Given the description of an element on the screen output the (x, y) to click on. 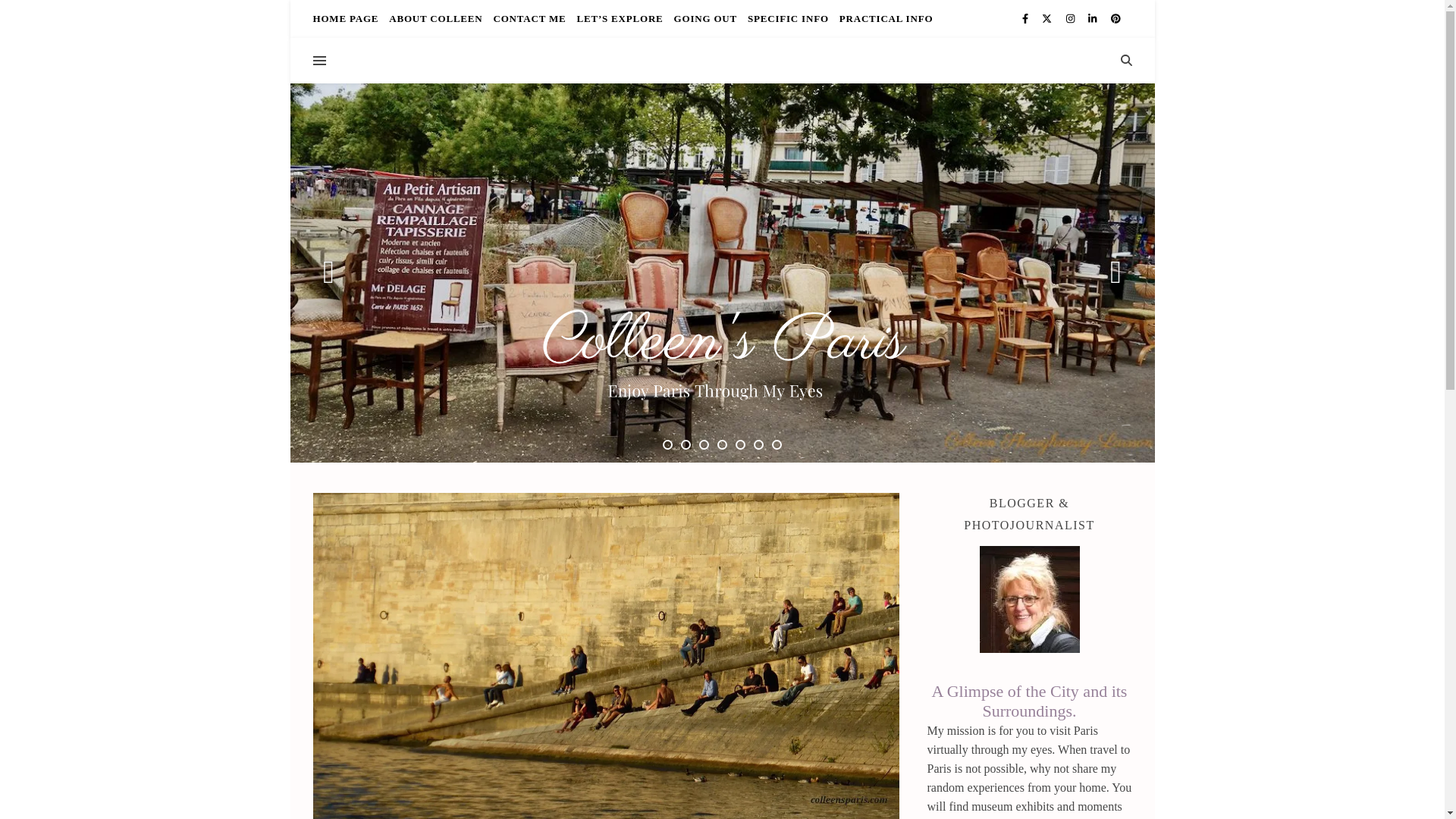
SPECIFIC INFO (788, 18)
PRACTICAL INFO (884, 18)
ABOUT COLLEEN (435, 18)
GOING OUT (705, 18)
CONTACT ME (529, 18)
HOME PAGE (347, 18)
